Given the description of an element on the screen output the (x, y) to click on. 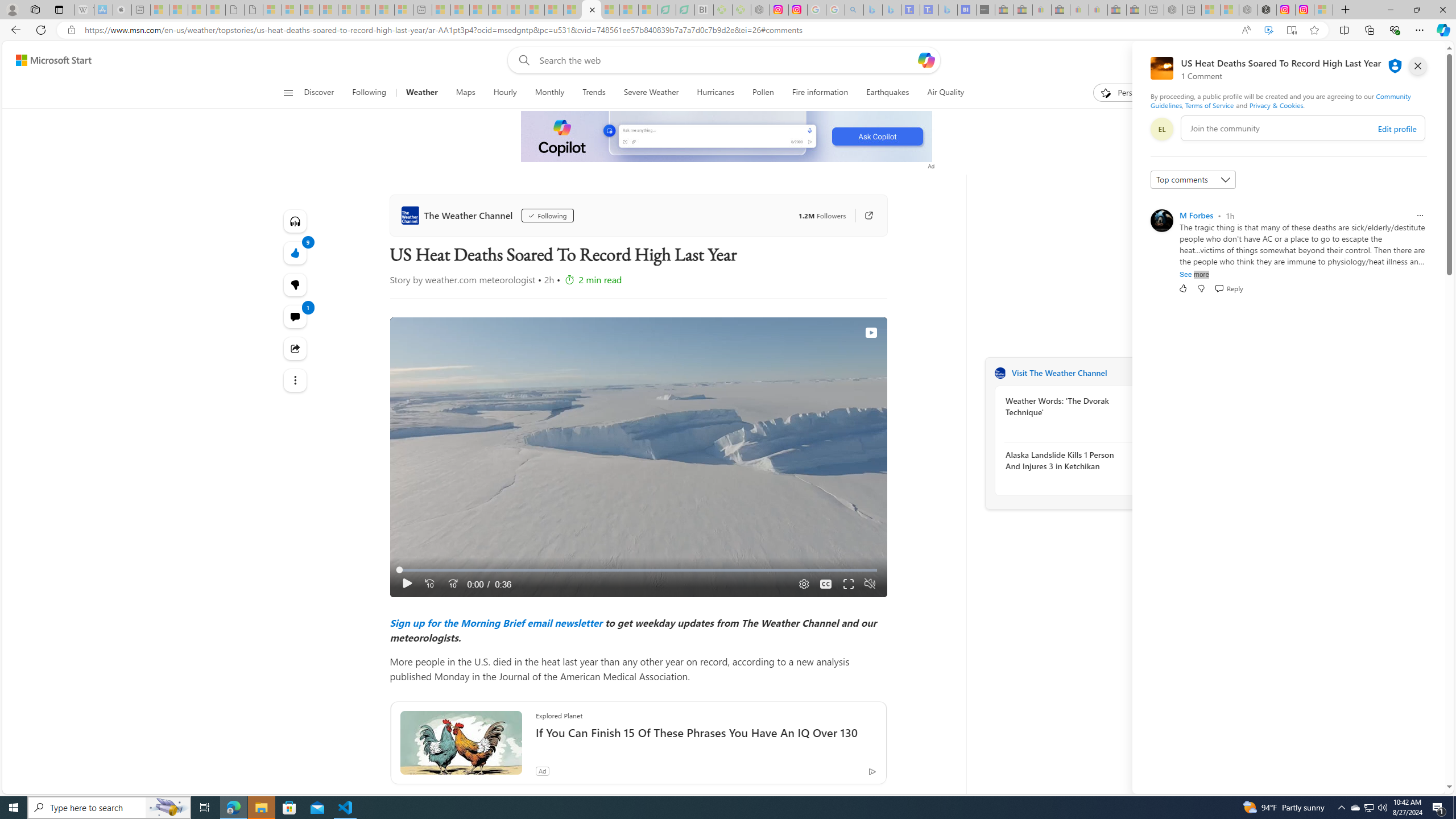
Wikipedia - Sleeping (84, 9)
Weather Words: 'The Dvorak Technique' (1066, 406)
Sort comments by (1193, 179)
Threats and offensive language policy | eBay - Sleeping (1079, 9)
Open navigation menu (287, 92)
Severe Weather (650, 92)
Microsoft Bing Travel - Shangri-La Hotel Bangkok - Sleeping (947, 9)
Progress Bar (638, 569)
Safety in Our Products - Google Safety Center - Sleeping (816, 9)
Monthly (549, 92)
